Given the description of an element on the screen output the (x, y) to click on. 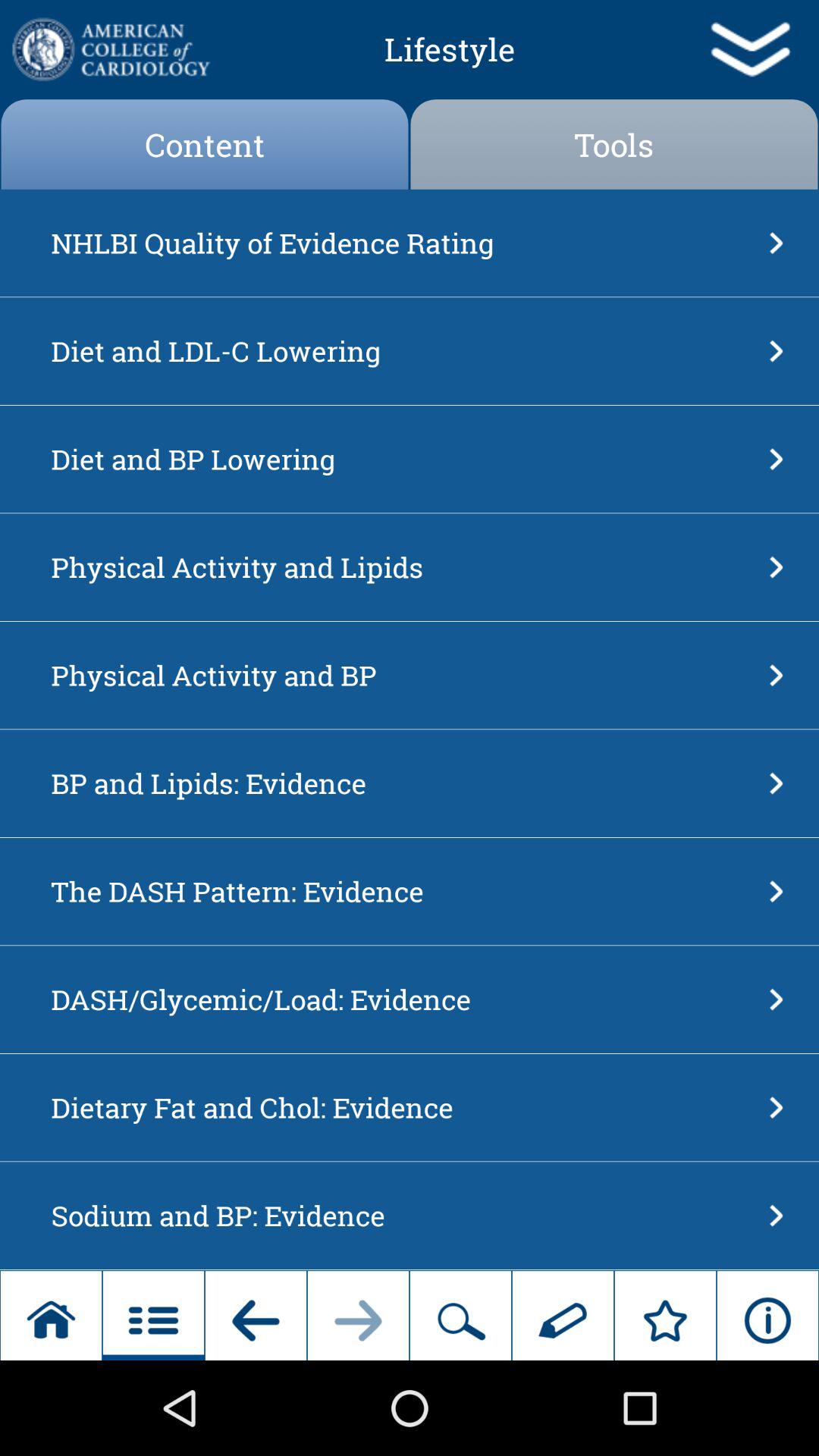
turn on the dash pattern (405, 891)
